Given the description of an element on the screen output the (x, y) to click on. 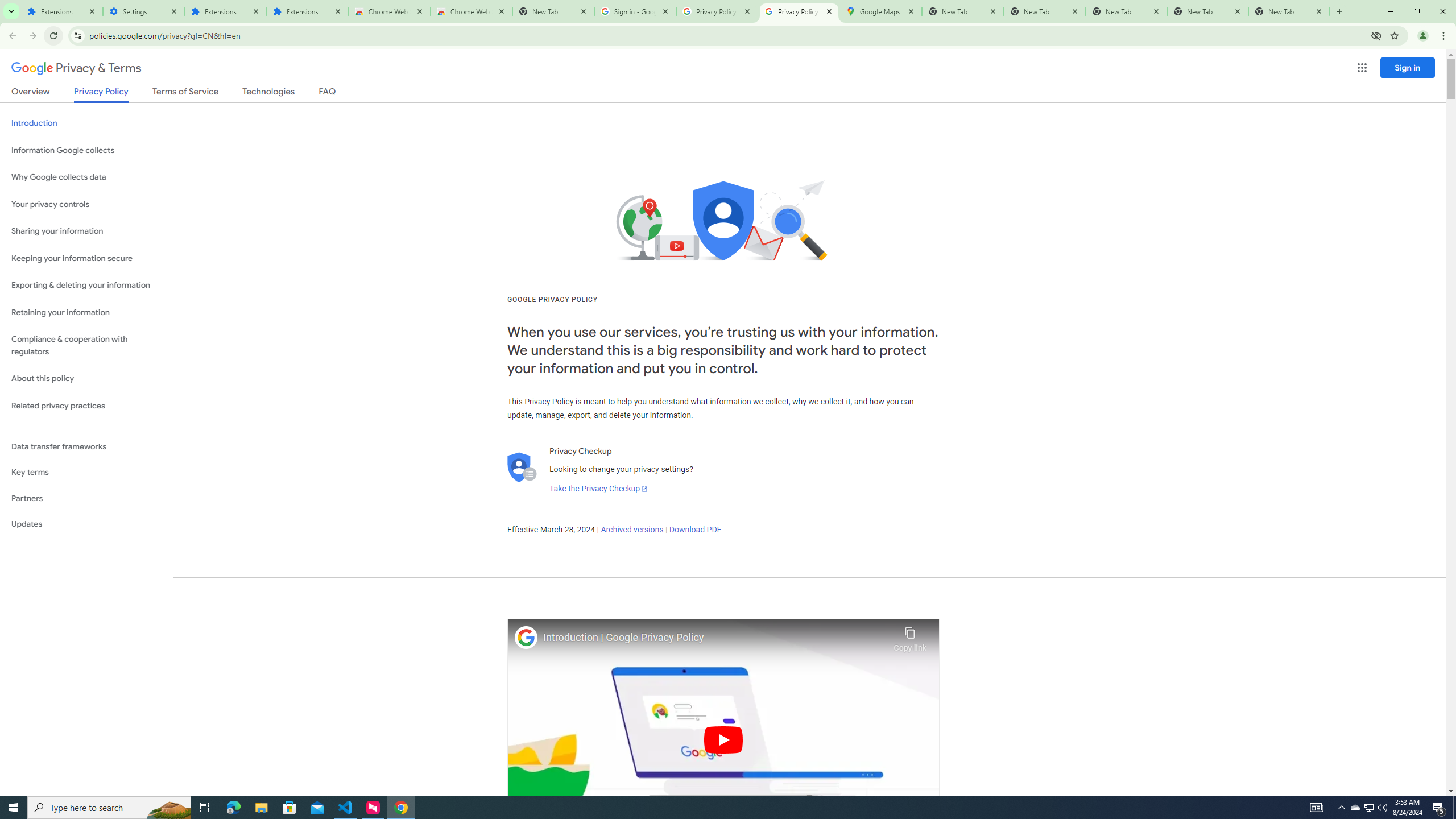
Google Maps (880, 11)
Take the Privacy Checkup (597, 488)
Extensions (61, 11)
Chrome Web Store (389, 11)
Exporting & deleting your information (86, 284)
New Tab (1289, 11)
